Given the description of an element on the screen output the (x, y) to click on. 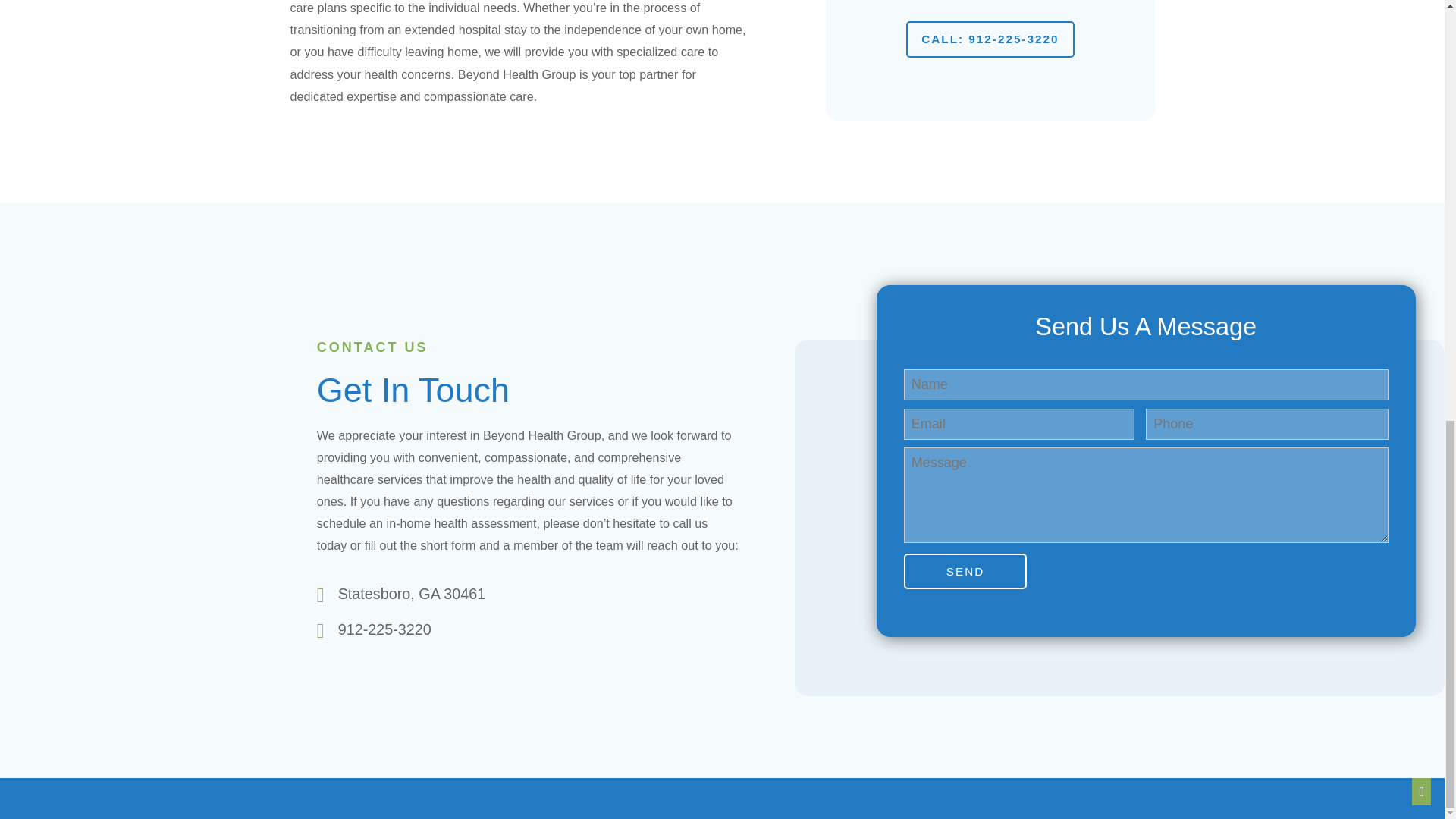
Send (965, 570)
912-225-3220 (383, 630)
CALL: 912-225-3220 (989, 39)
Statesboro, GA 30461 (411, 594)
Send (965, 570)
